Given the description of an element on the screen output the (x, y) to click on. 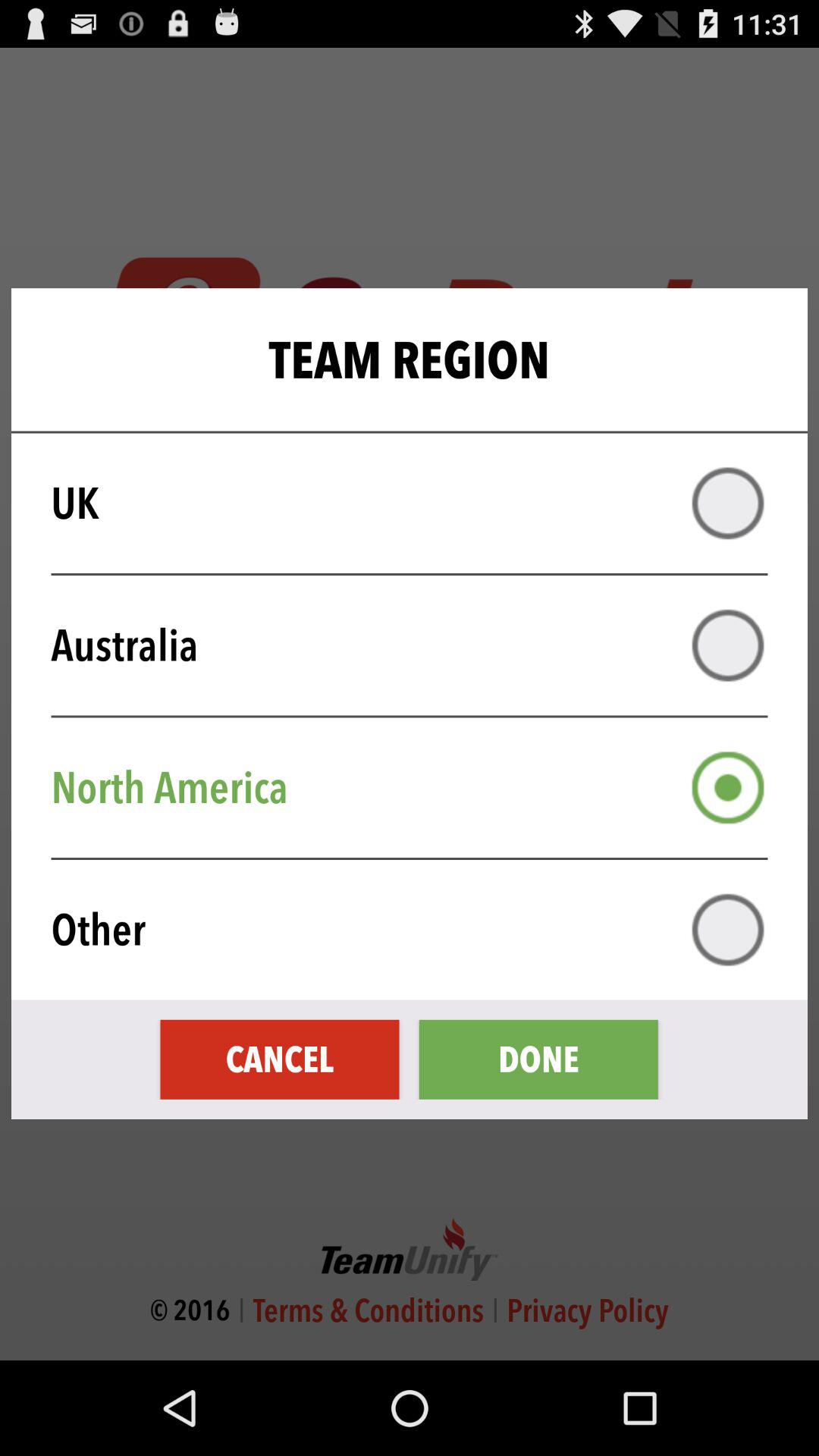
uk team region setting filter (727, 503)
